Given the description of an element on the screen output the (x, y) to click on. 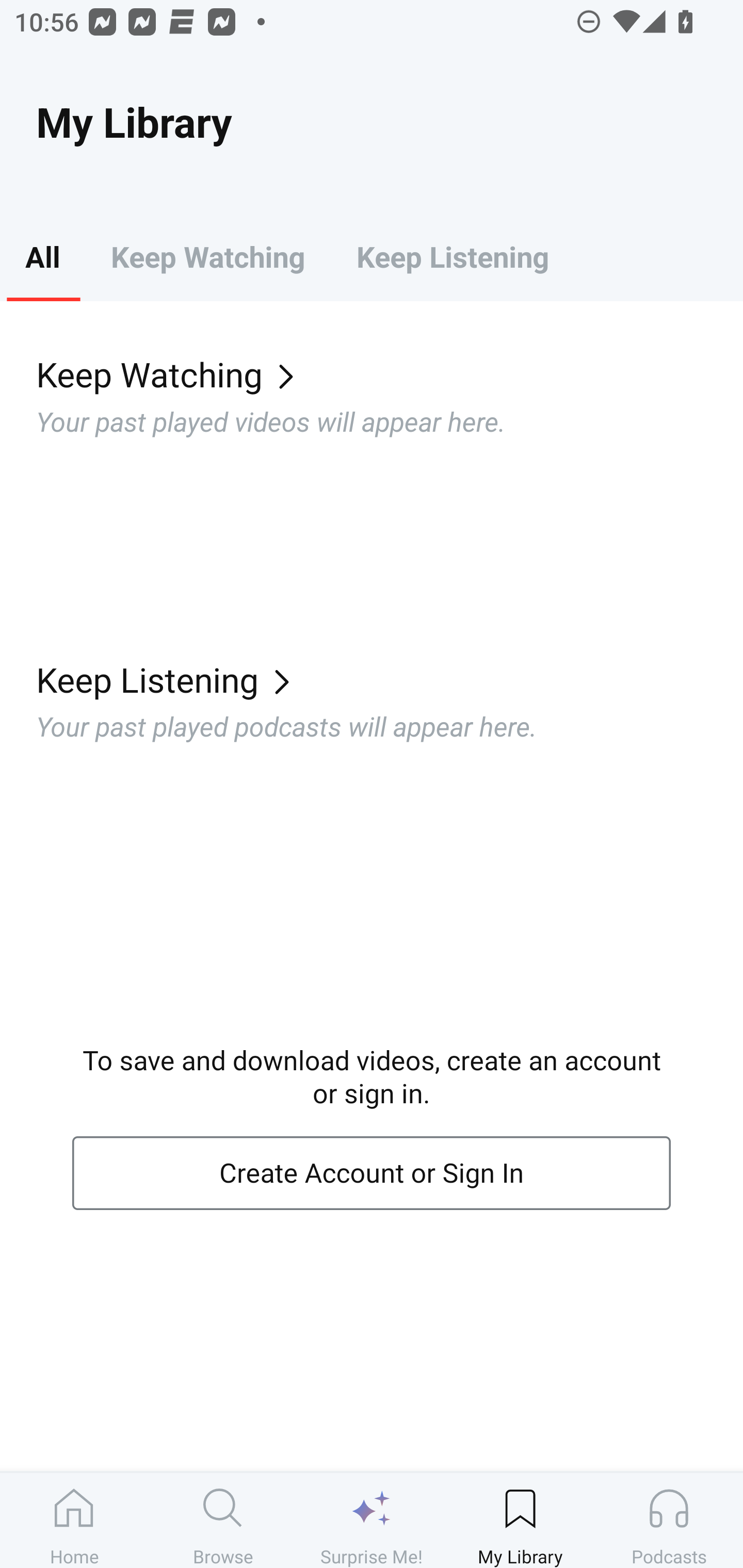
All (42, 256)
Keep Watching (207, 256)
Keep Listening (452, 256)
Keep Watching (389, 373)
Keep Listening (389, 679)
Create Account or Sign In (371, 1173)
Home (74, 1520)
Browse (222, 1520)
Surprise Me! (371, 1520)
My Library (519, 1520)
Podcasts (668, 1520)
